Given the description of an element on the screen output the (x, y) to click on. 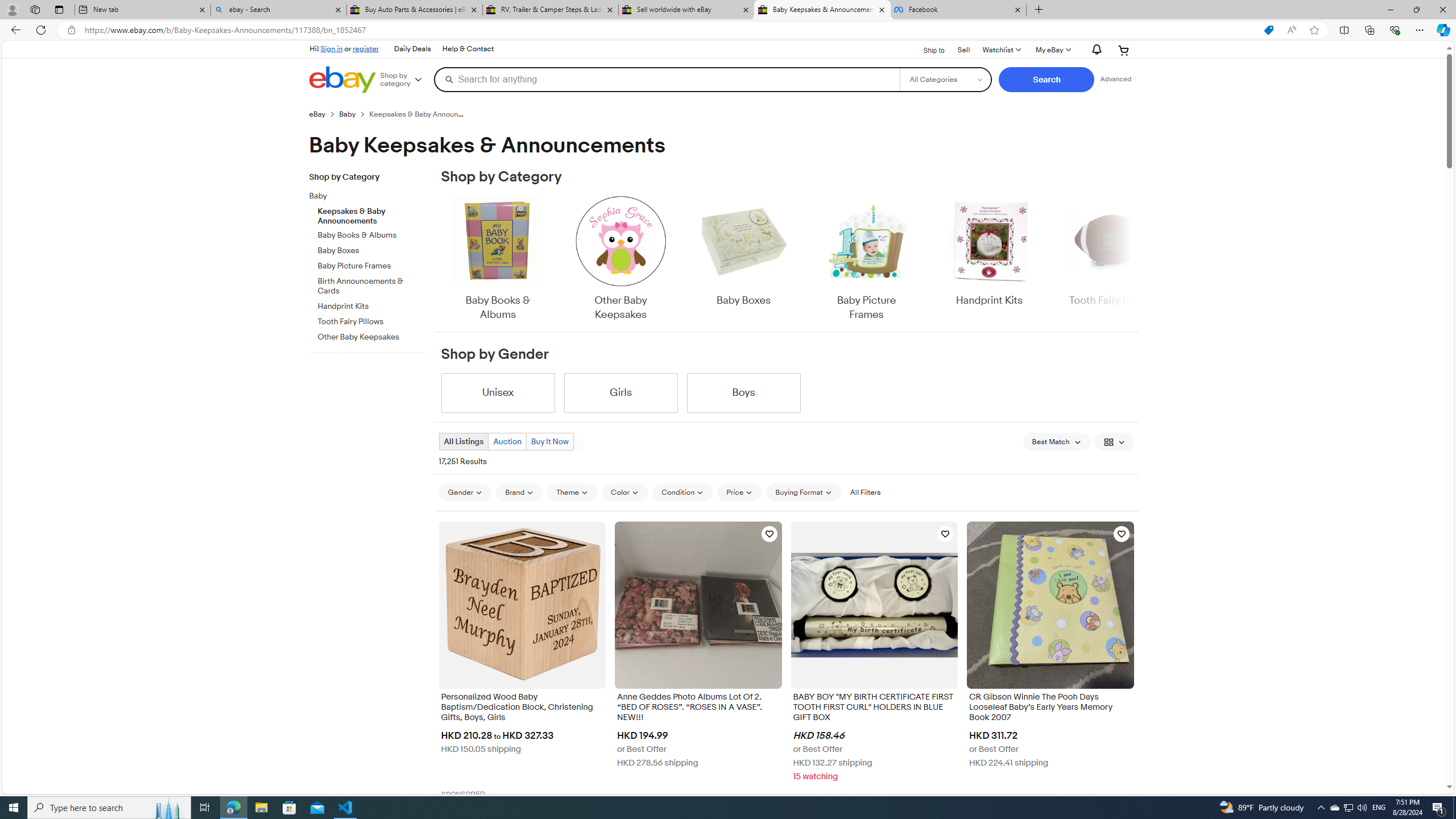
Theme (572, 492)
Baby Books & Albums (497, 258)
Baby Boxes (742, 258)
Expand Cart (1123, 49)
Gender (465, 492)
Help & Contact (467, 49)
